Given the description of an element on the screen output the (x, y) to click on. 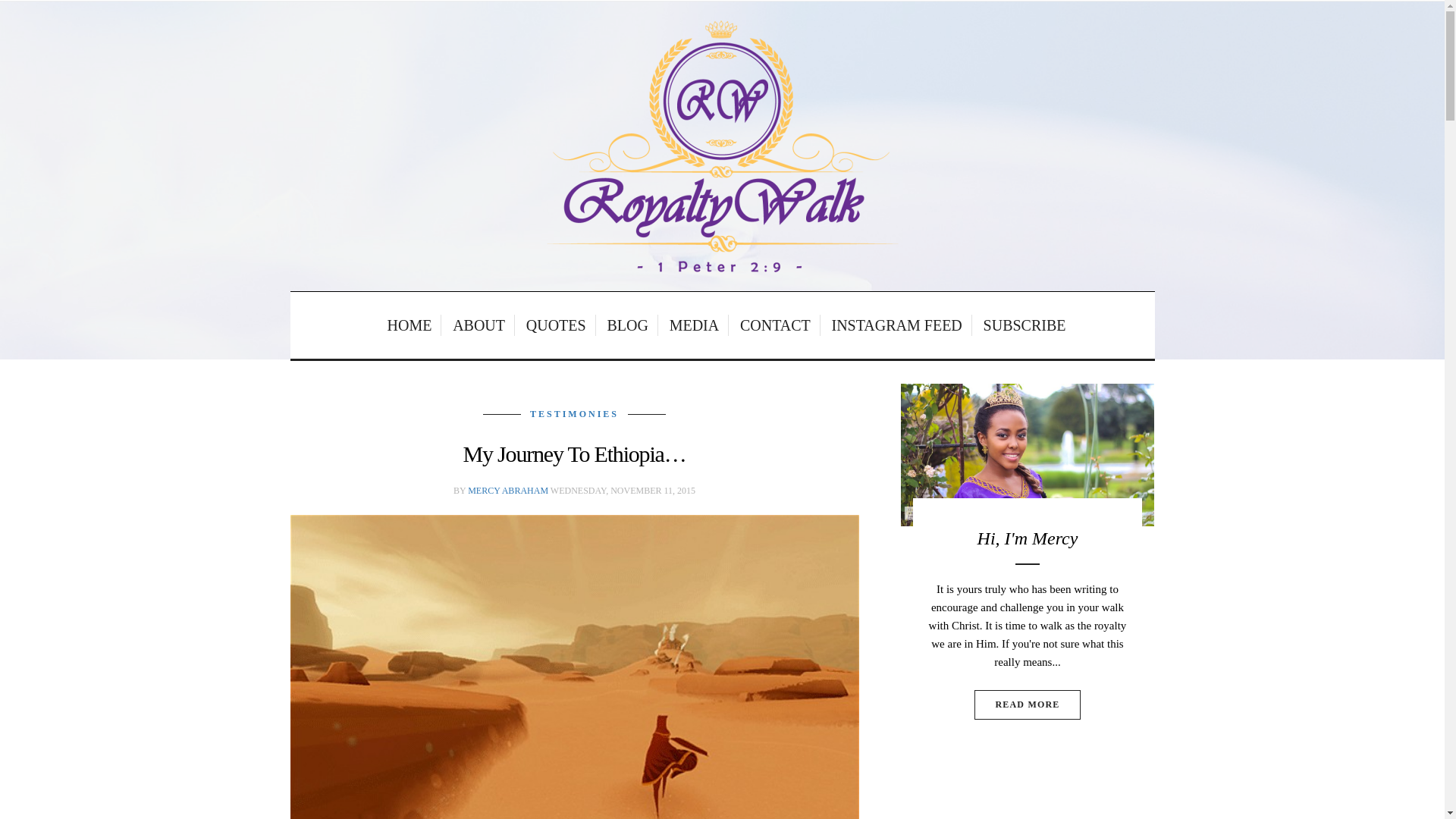
INSTAGRAM FEED (898, 324)
MEDIA (695, 324)
CONTACT (776, 324)
Posts by Mercy Abraham (507, 490)
HOME (410, 324)
ABOUT (479, 324)
MERCY ABRAHAM (507, 490)
QUOTES (556, 324)
TESTIMONIES (574, 413)
BLOG (628, 324)
SUBSCRIBE (1020, 324)
